Given the description of an element on the screen output the (x, y) to click on. 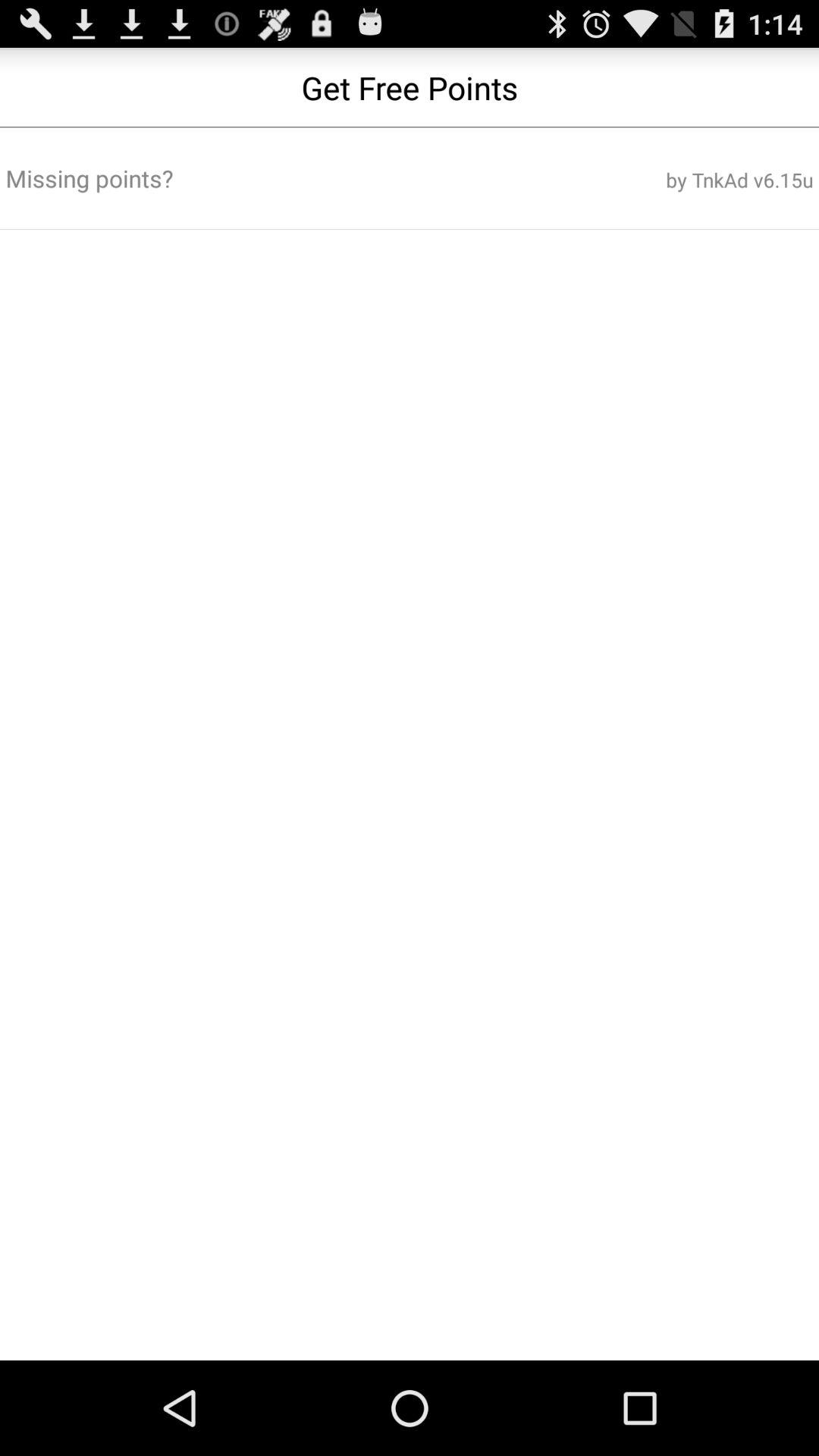
press the app below get free points icon (273, 178)
